Given the description of an element on the screen output the (x, y) to click on. 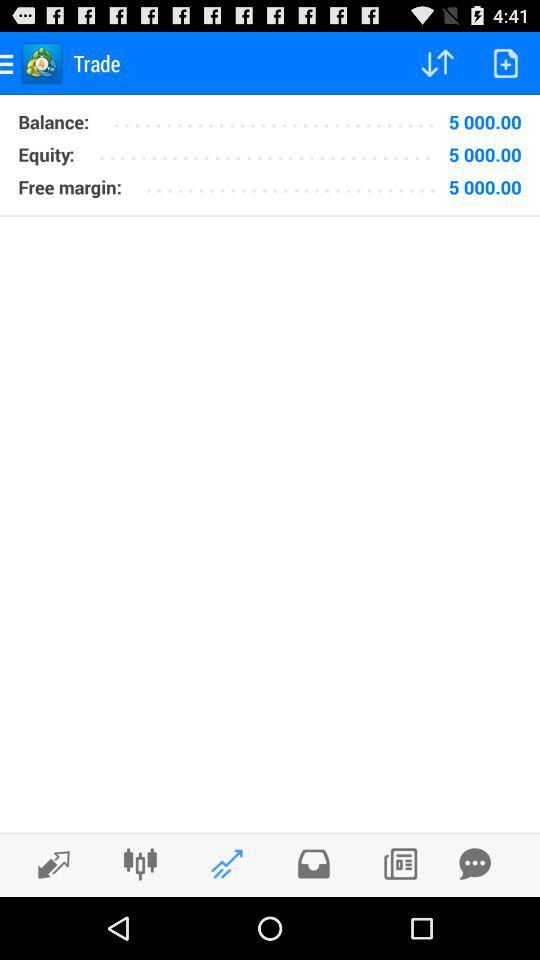
news (400, 863)
